Given the description of an element on the screen output the (x, y) to click on. 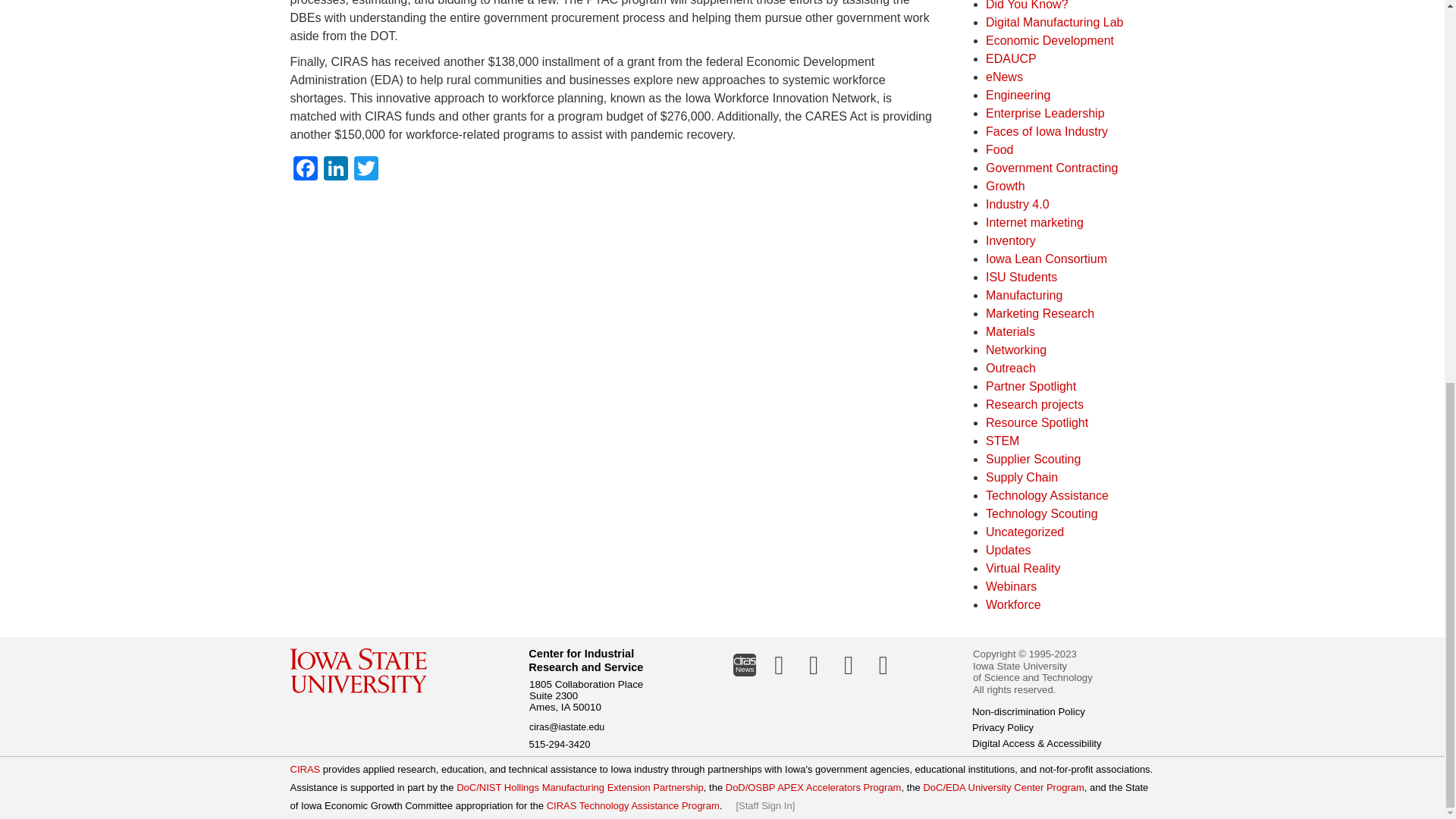
Facebook (304, 170)
Twitter (813, 664)
YouTube (883, 664)
LinkedIn (335, 170)
Facebook (848, 664)
CIRAS News (744, 664)
Twitter (365, 170)
LinkedIn (778, 664)
